Given the description of an element on the screen output the (x, y) to click on. 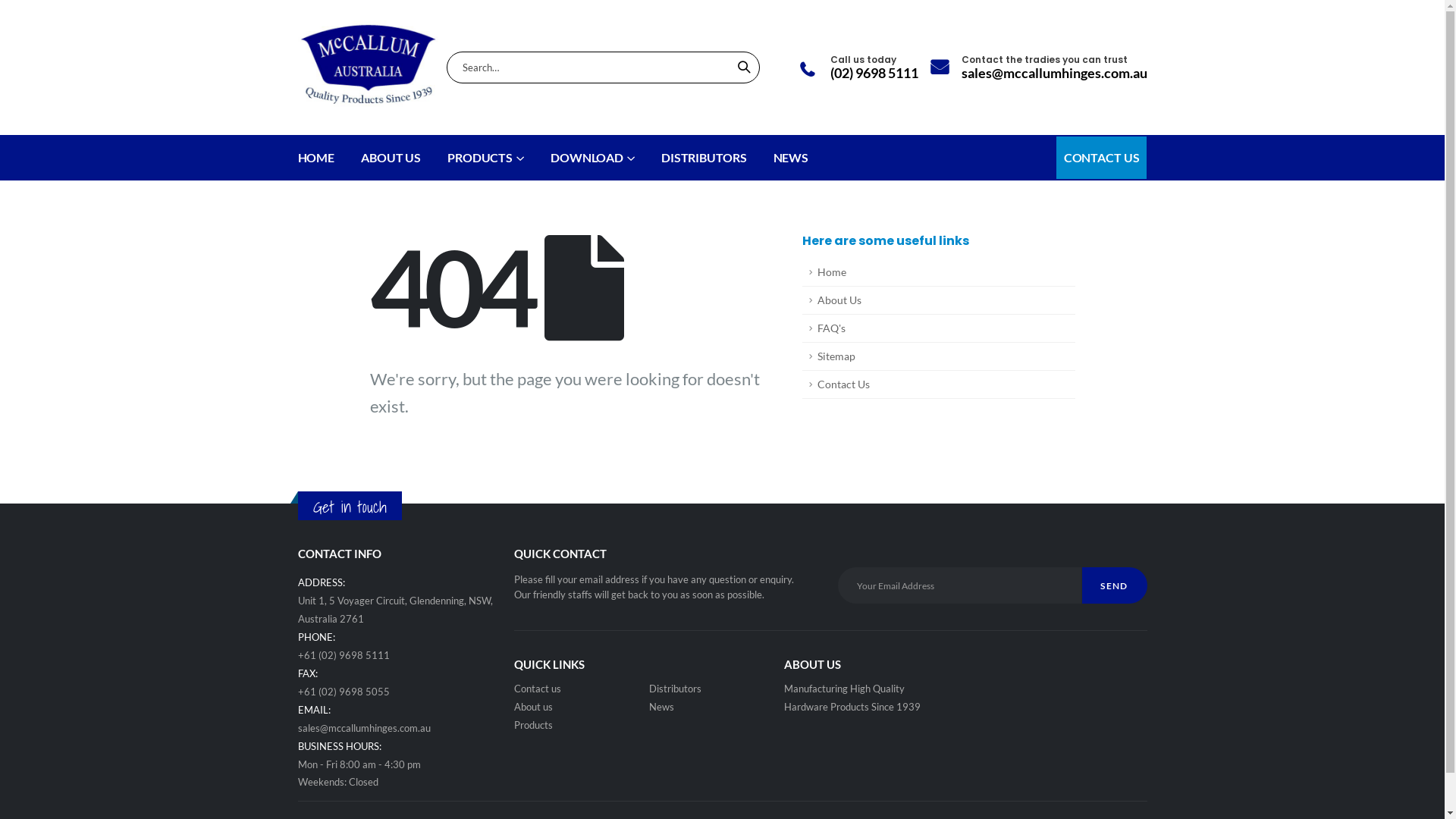
NEWS Element type: text (791, 157)
sales@mccallumhinges.com.au Element type: text (363, 727)
Search Element type: hover (743, 67)
Mccallum Hinges - Quality Hinges Since 1939 Element type: hover (368, 67)
CONTACT US Element type: text (1101, 157)
DOWNLOAD Element type: text (592, 157)
FAQ's Element type: text (938, 328)
About us Element type: text (533, 706)
Sitemap Element type: text (938, 356)
Contact Us Element type: text (938, 384)
My Account Element type: hover (807, 70)
Distributors Element type: text (675, 688)
Products Element type: text (533, 724)
DISTRIBUTORS Element type: text (703, 157)
About Us Element type: text (938, 300)
News Element type: text (661, 706)
My Account Element type: hover (939, 68)
HOME Element type: text (315, 157)
Home Element type: text (938, 272)
Contact us Element type: text (537, 688)
ABOUT US Element type: text (390, 157)
PRODUCTS Element type: text (485, 157)
Send Element type: text (1113, 585)
